Given the description of an element on the screen output the (x, y) to click on. 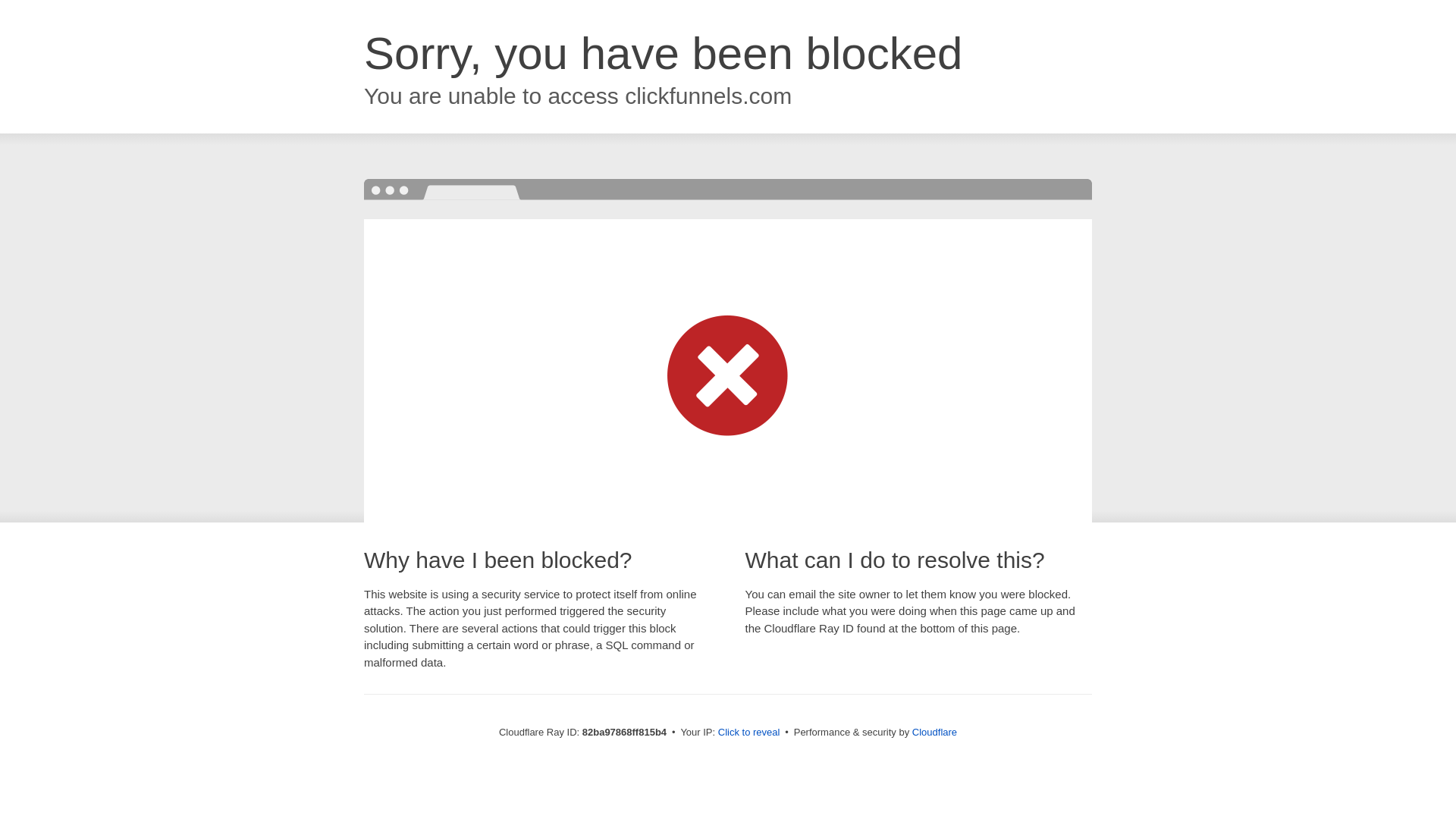
Click to reveal Element type: text (749, 732)
Cloudflare Element type: text (934, 731)
